Given the description of an element on the screen output the (x, y) to click on. 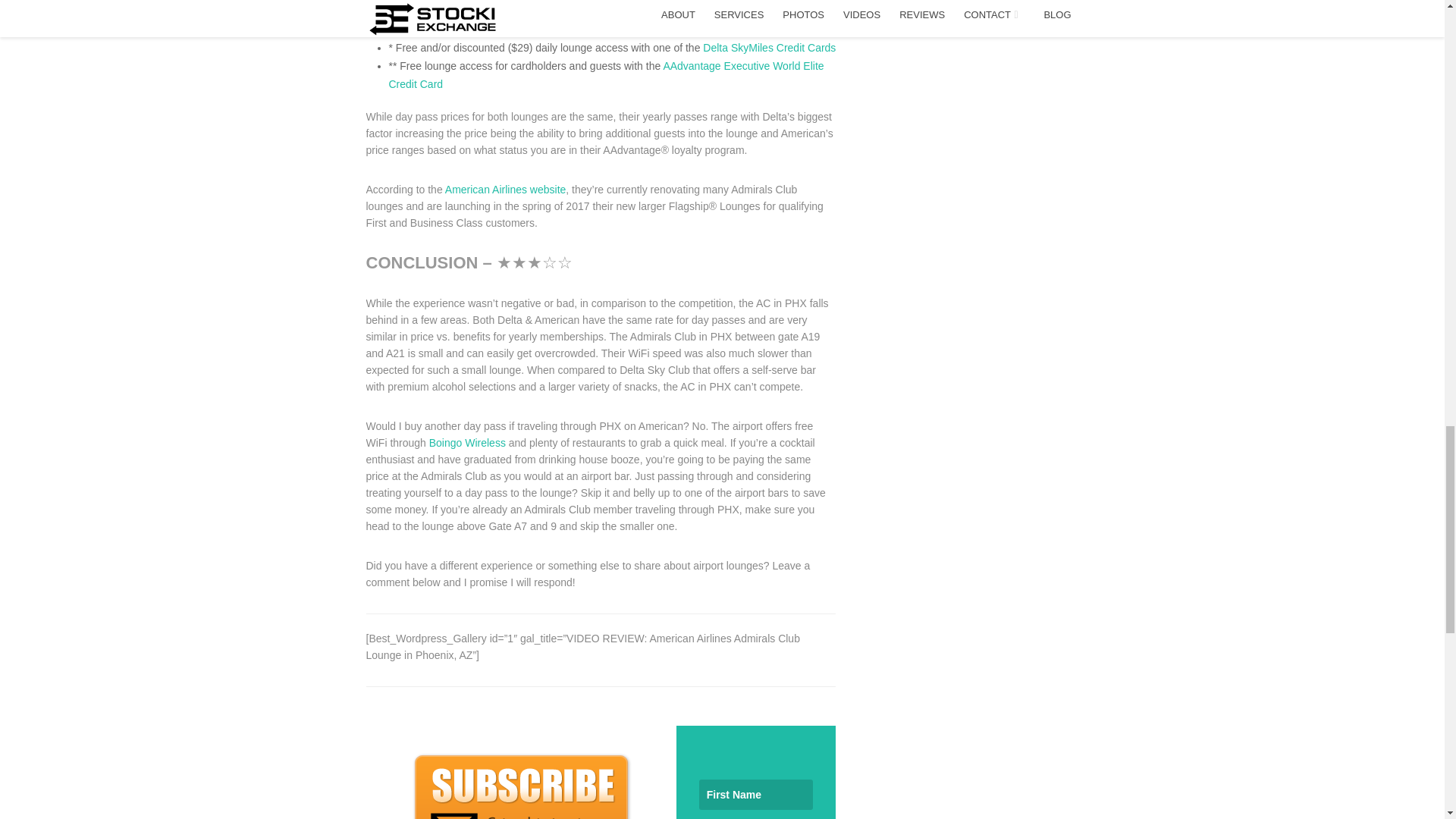
American Airlines website (505, 189)
Delta SkyMiles Credit Cards (769, 47)
Boingo Wireless (467, 442)
AAdvantage Executive World Elite Credit Card (606, 74)
